Given the description of an element on the screen output the (x, y) to click on. 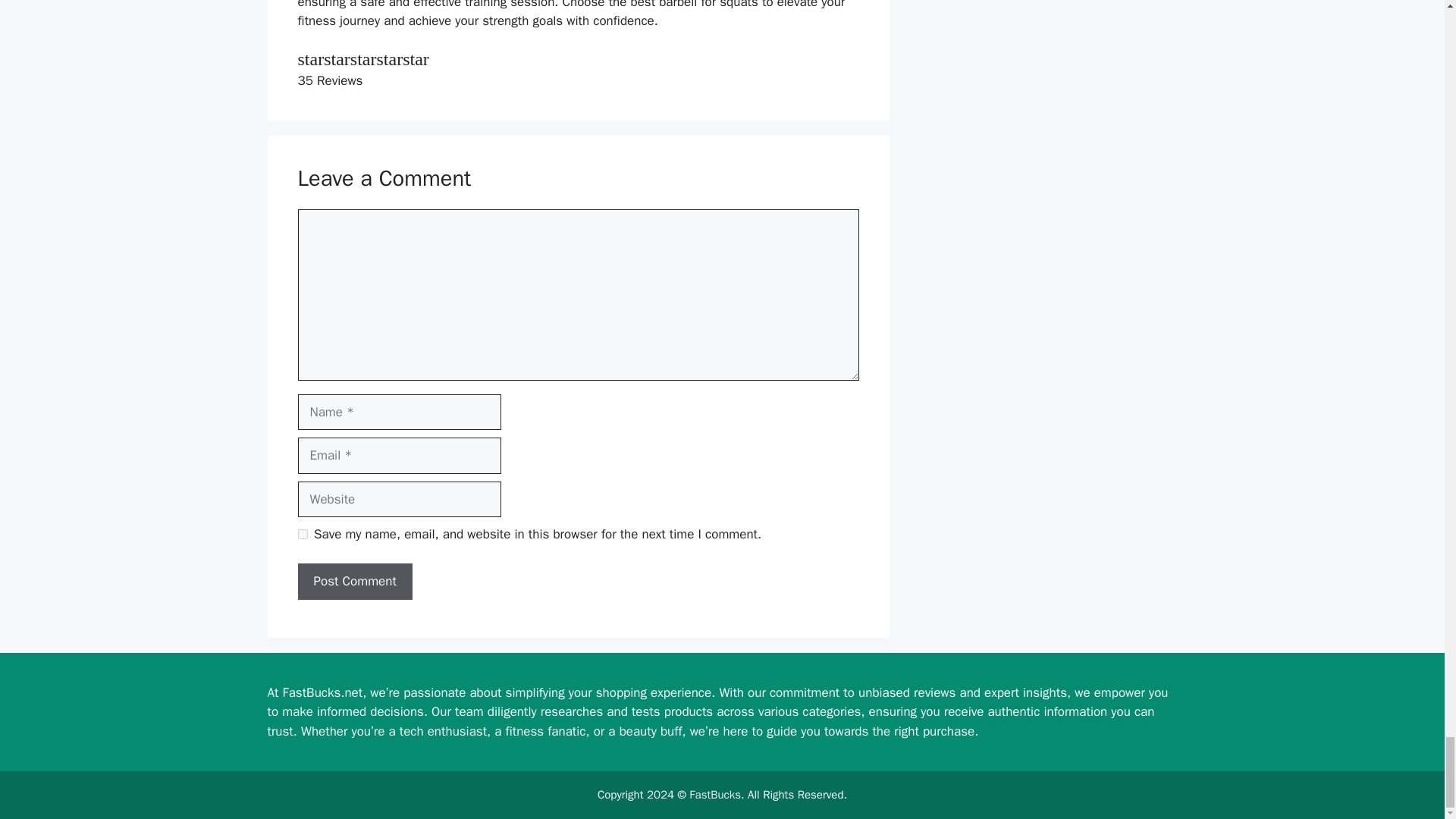
Post Comment (354, 581)
yes (302, 533)
